Given the description of an element on the screen output the (x, y) to click on. 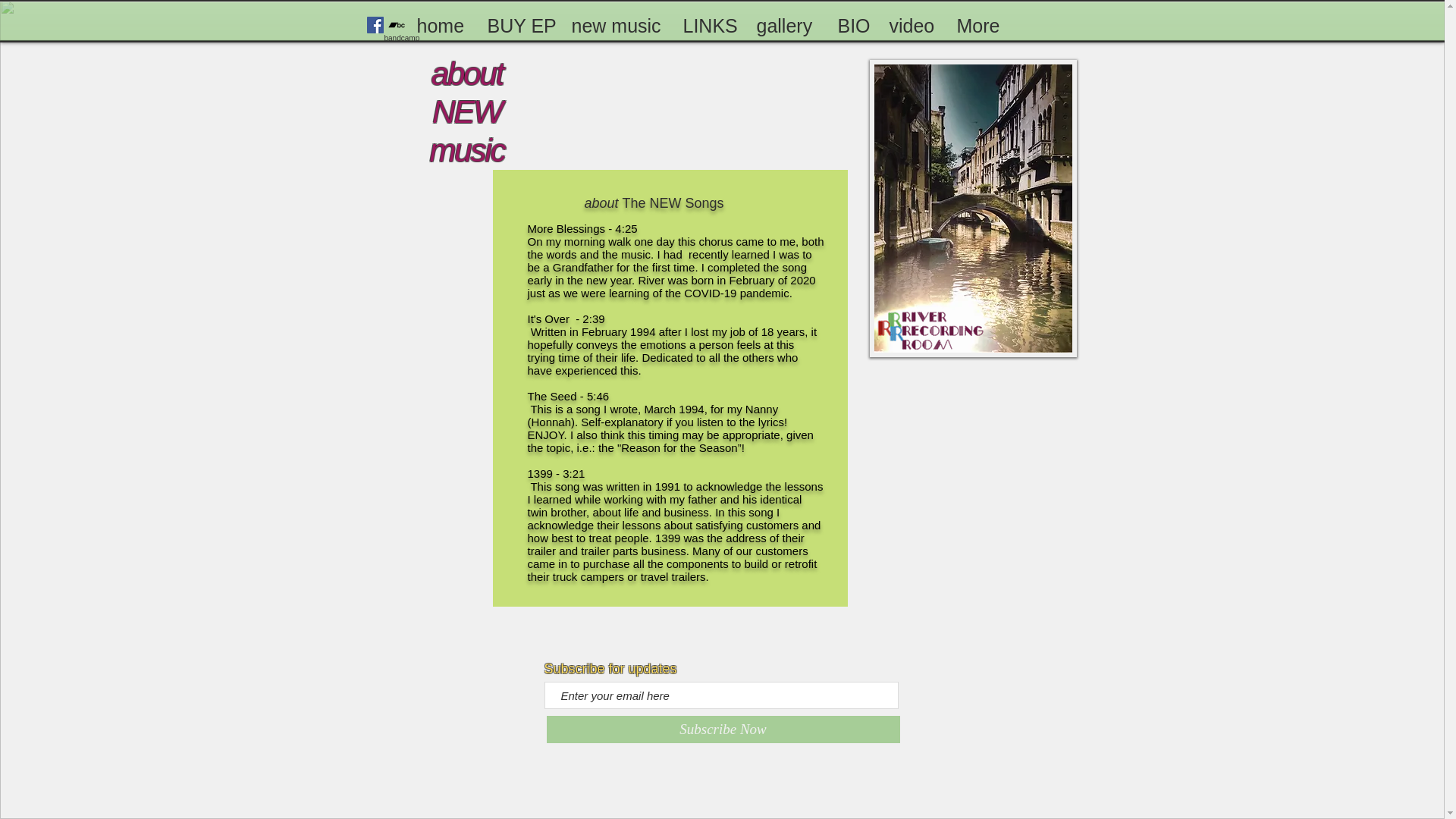
video (909, 24)
BIO (850, 24)
LINKS (706, 24)
Subscribe Now (722, 728)
new music (615, 24)
gallery (784, 24)
home (440, 24)
BUY EP (516, 24)
